Given the description of an element on the screen output the (x, y) to click on. 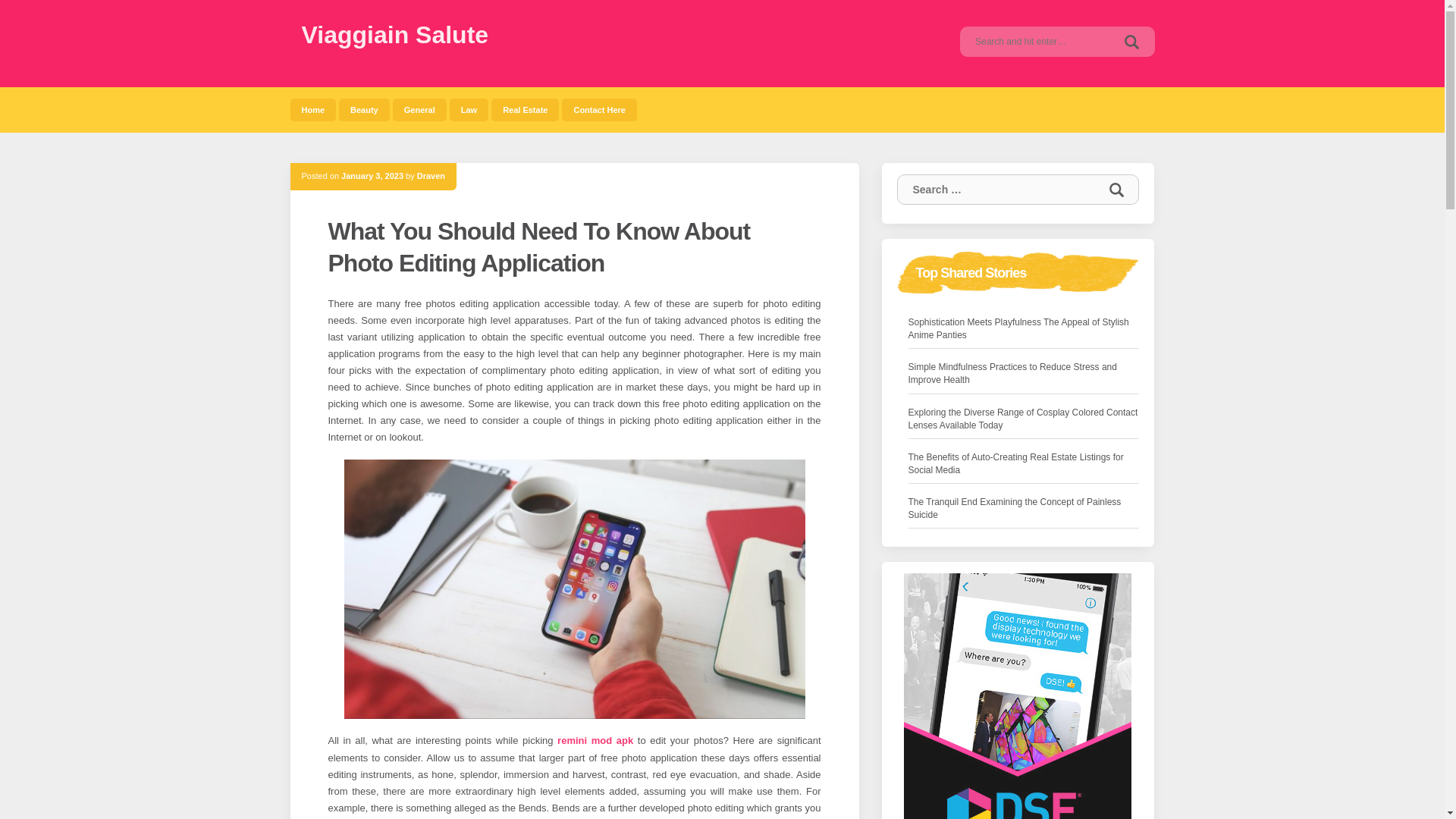
Search (1131, 41)
Search (1131, 41)
Law (468, 109)
Law (468, 109)
Search (1131, 41)
The Tranquil End Examining the Concept of Painless Suicide (1024, 508)
Search (1115, 189)
Viaggiain Salute (395, 34)
Beauty (364, 109)
Contact Here (599, 109)
Draven (430, 175)
General (419, 109)
